Given the description of an element on the screen output the (x, y) to click on. 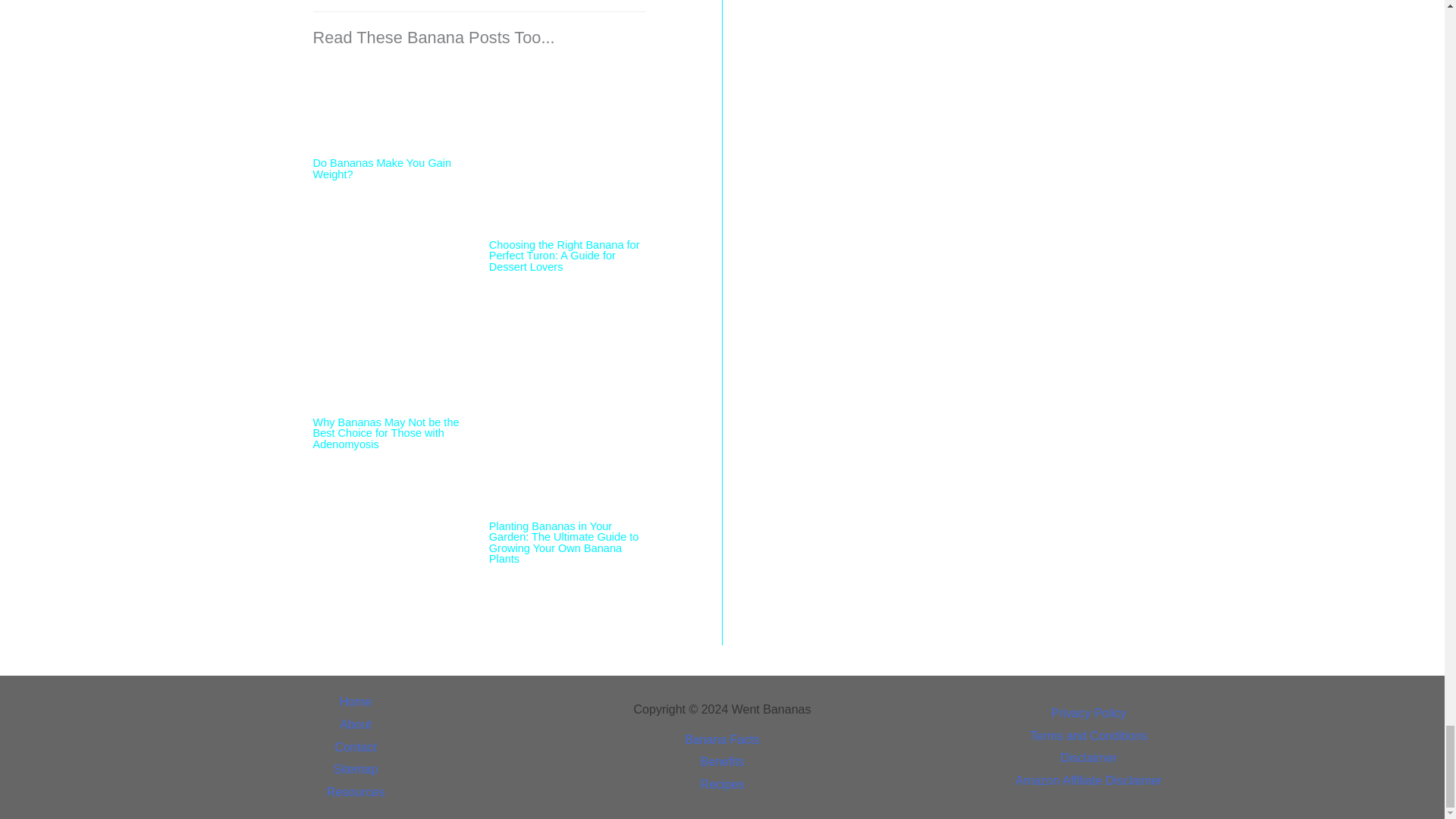
Do Bananas Make You Gain Weight? (390, 104)
